Given the description of an element on the screen output the (x, y) to click on. 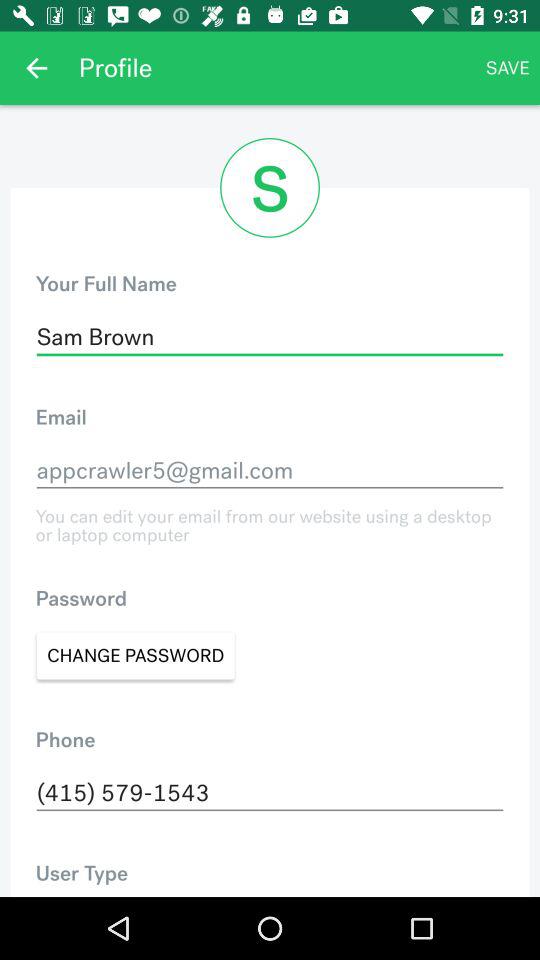
press the icon to the right of profile item (507, 67)
